Given the description of an element on the screen output the (x, y) to click on. 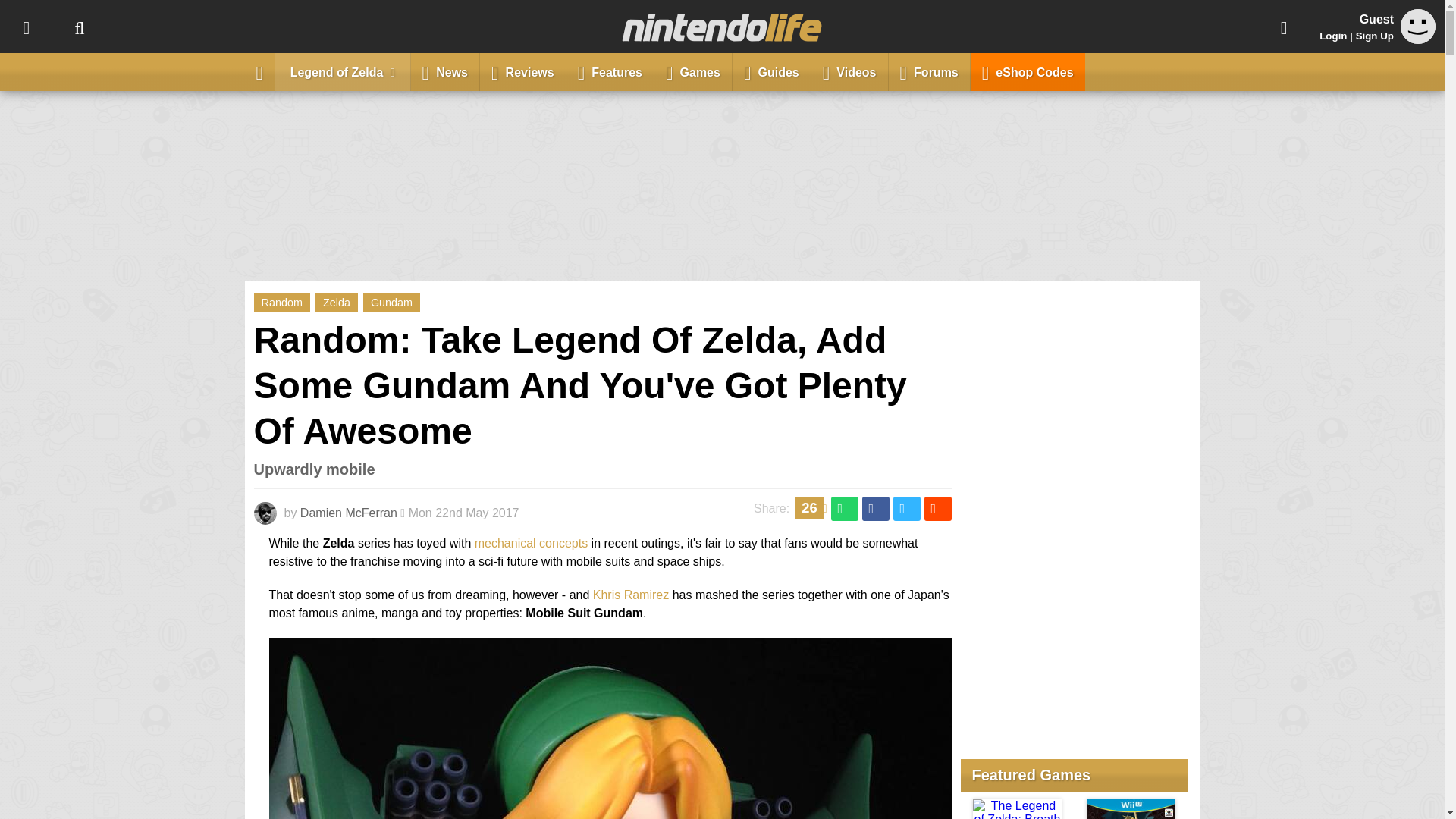
Topics (26, 26)
Videos (849, 71)
Sign Up (1374, 35)
Guest (1417, 26)
Guides (771, 71)
News (445, 71)
Guest (1417, 39)
Random (280, 302)
Zelda (336, 302)
Gundam (391, 302)
